Given the description of an element on the screen output the (x, y) to click on. 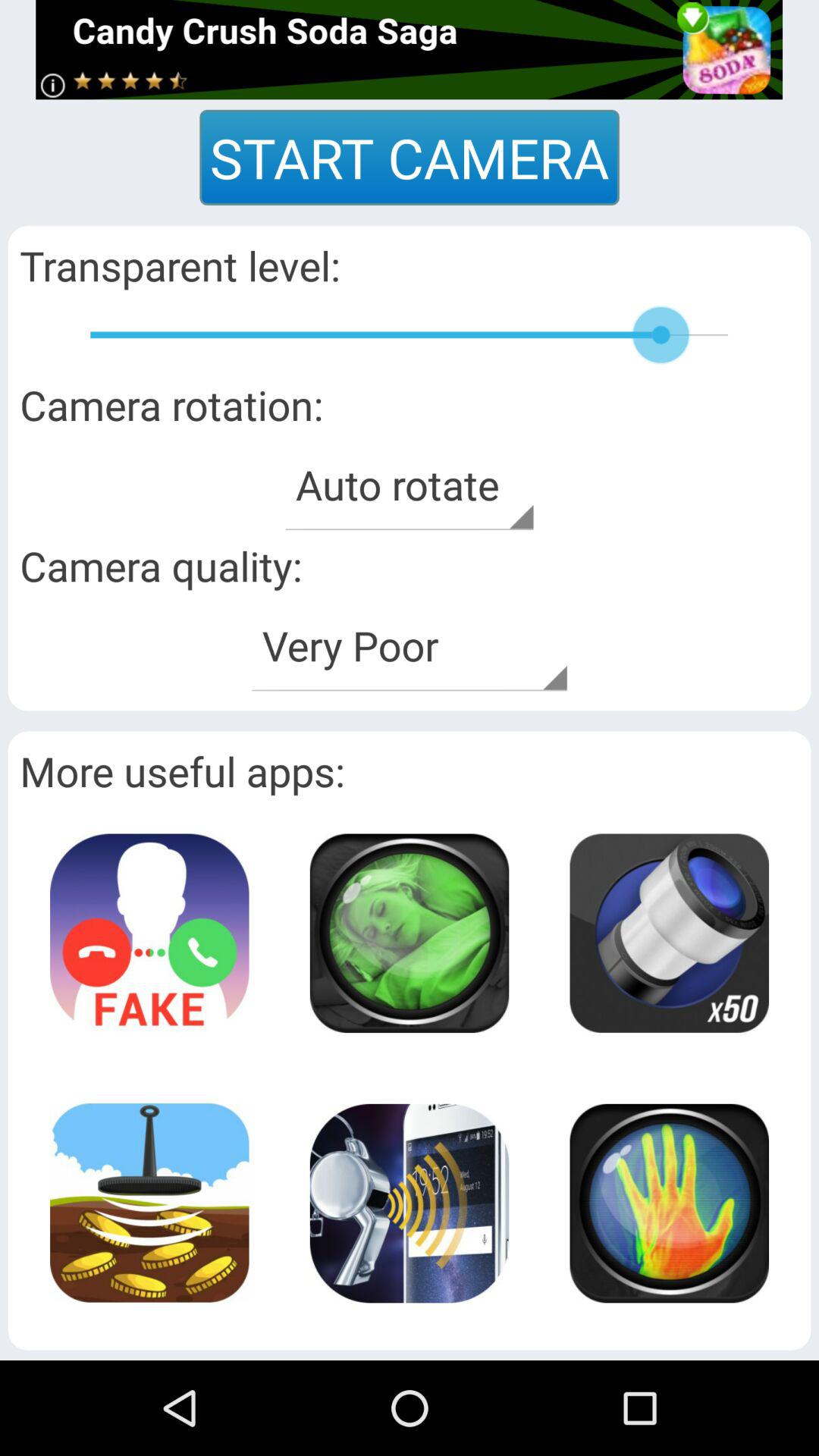
fake app download (149, 932)
